Given the description of an element on the screen output the (x, y) to click on. 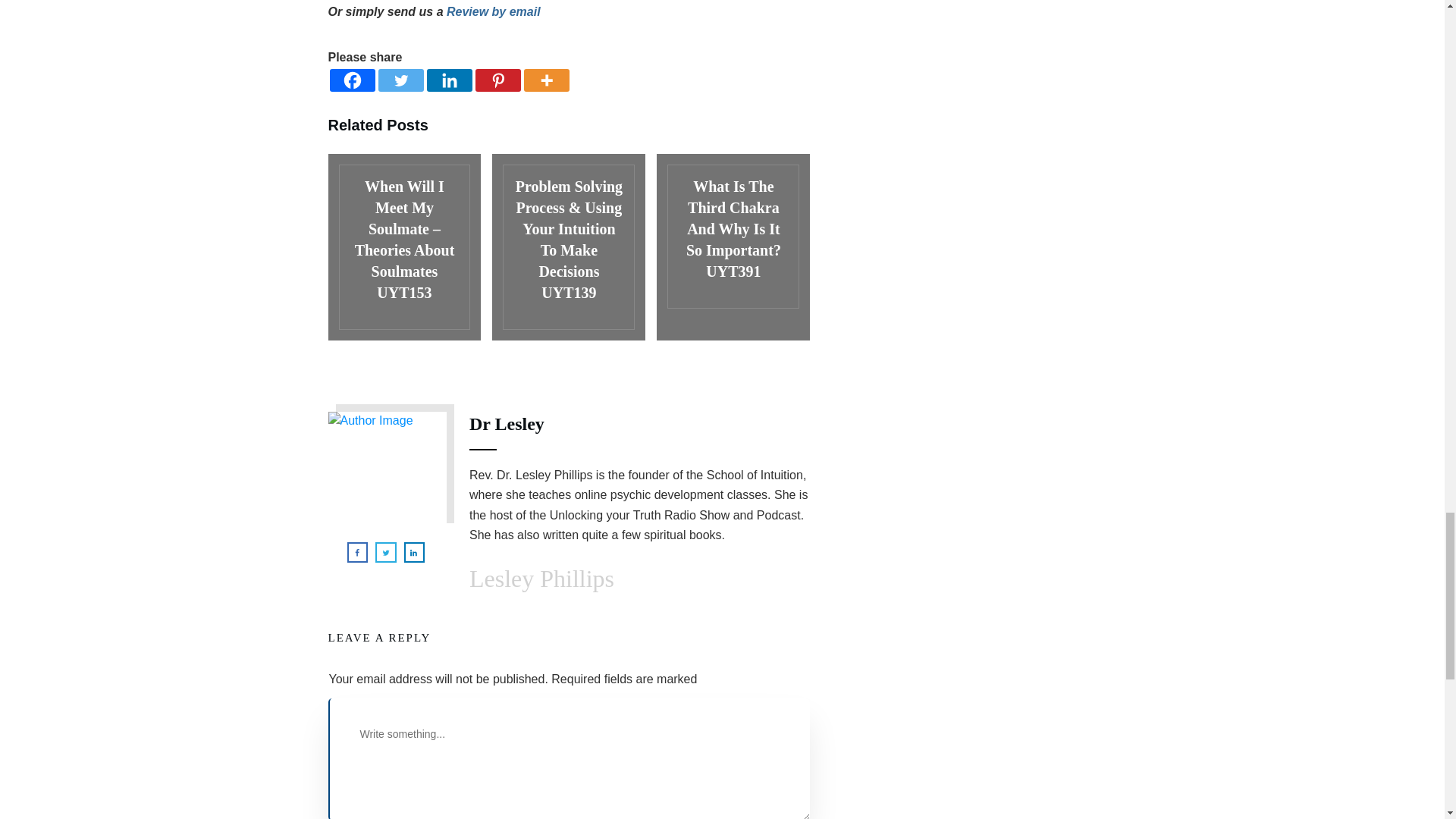
More (545, 79)
Facebook (351, 79)
Linkedin (448, 79)
Twitter (400, 79)
Pinterest (496, 79)
